Given the description of an element on the screen output the (x, y) to click on. 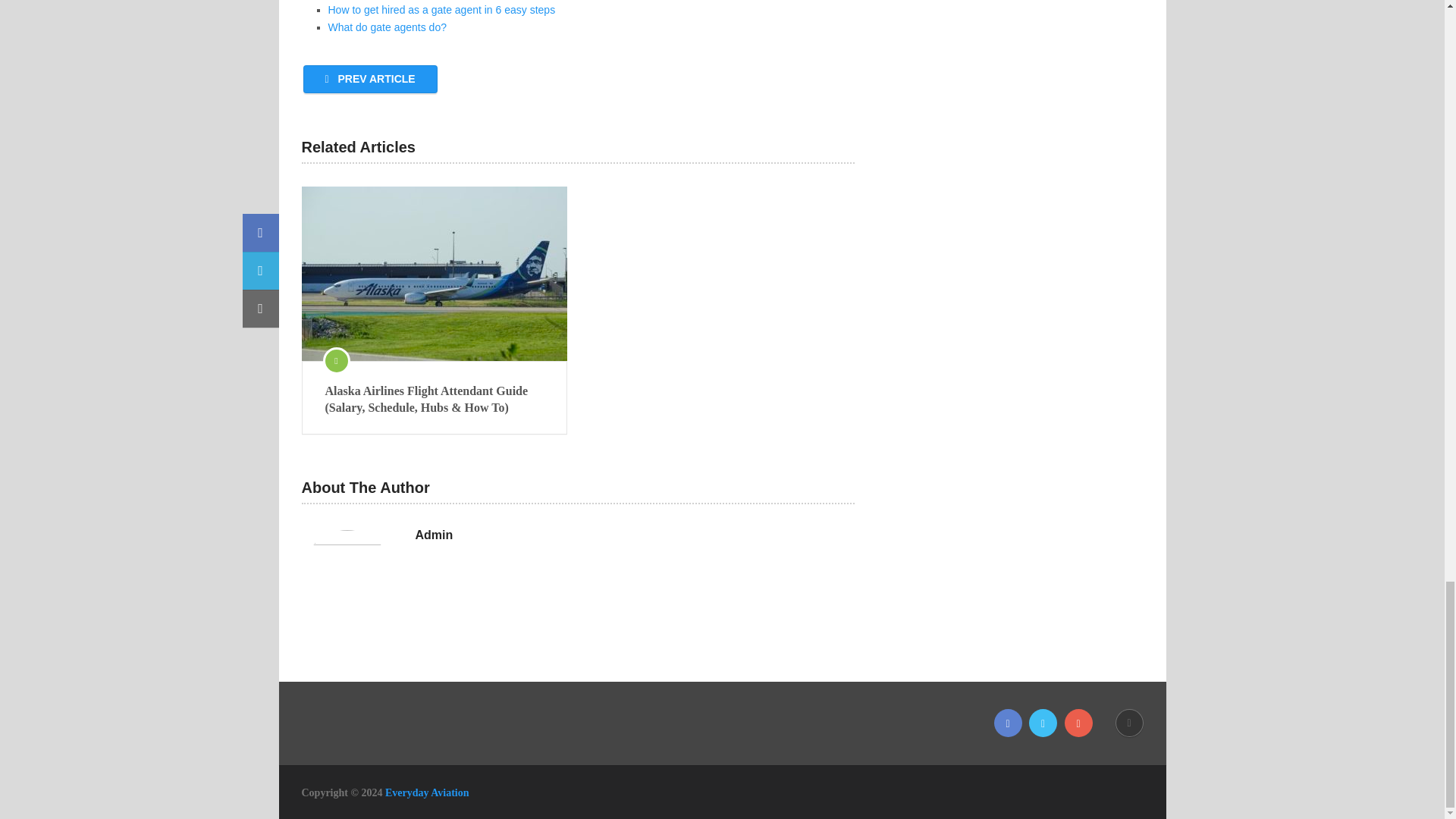
Everyday Aviation (426, 792)
PREV ARTICLE (370, 79)
What do gate agents do? (386, 27)
Admin (433, 535)
How to get hired as a gate agent in 6 easy steps (440, 9)
